Given the description of an element on the screen output the (x, y) to click on. 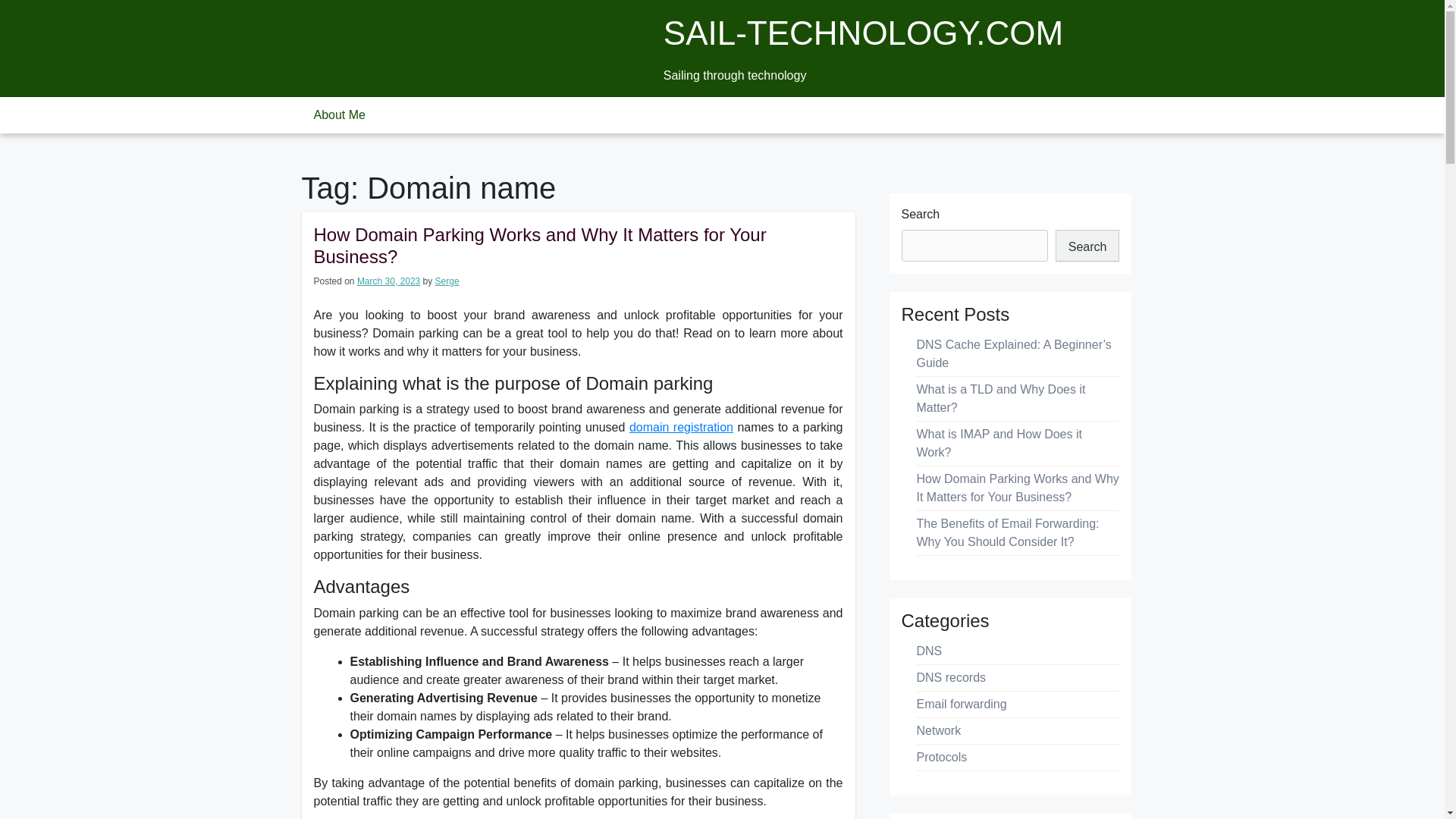
March 30, 2023 (388, 281)
SAIL-TECHNOLOGY.COM (862, 32)
About Me (339, 115)
domain registration (680, 427)
Serge (447, 281)
